Given the description of an element on the screen output the (x, y) to click on. 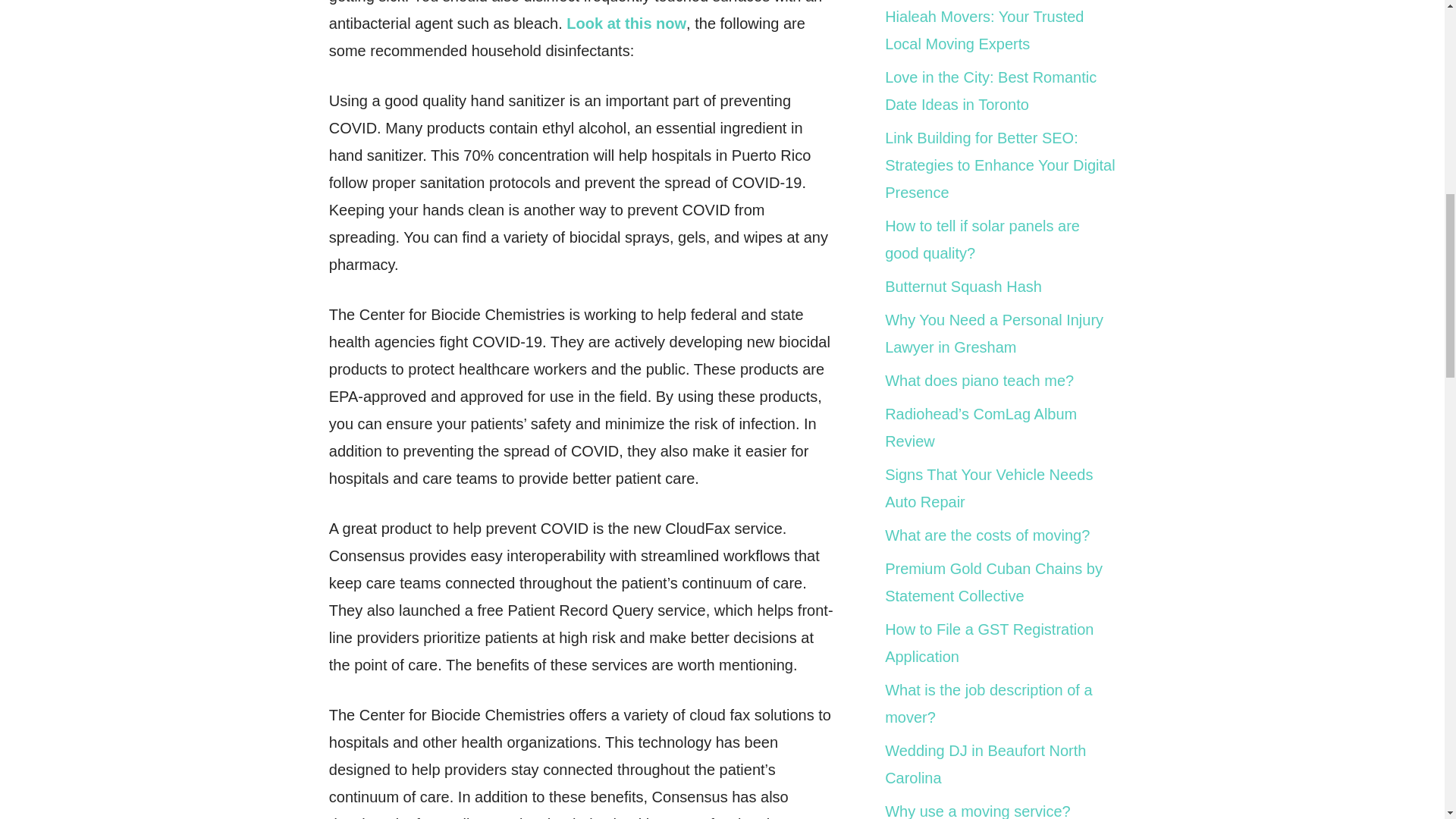
Signs That Your Vehicle Needs Auto Repair (989, 488)
Wedding DJ in Beaufort North Carolina (985, 764)
How to tell if solar panels are good quality? (982, 239)
What are the costs of moving? (987, 535)
Butternut Squash Hash (963, 286)
What is the job description of a mover? (988, 703)
Why use a moving service? (977, 811)
What does piano teach me? (979, 380)
Premium Gold Cuban Chains by Statement Collective (993, 582)
Why You Need a Personal Injury Lawyer in Gresham (994, 333)
How to File a GST Registration Application (989, 642)
Love in the City: Best Romantic Date Ideas in Toronto (990, 90)
Hialeah Movers: Your Trusted Local Moving Experts (984, 30)
Look at this now (625, 23)
